Given the description of an element on the screen output the (x, y) to click on. 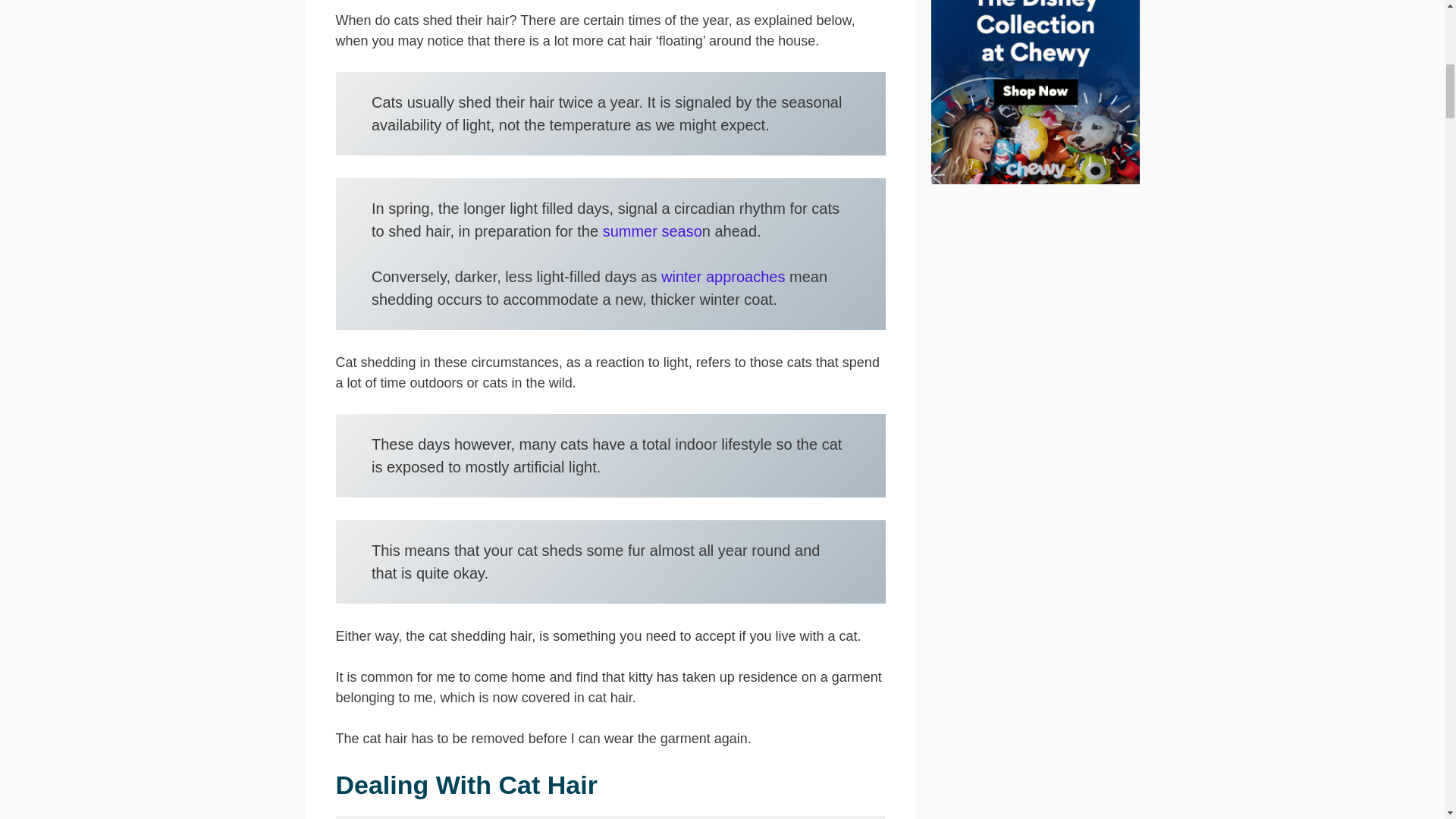
summer seaso (651, 230)
winter approaches (722, 276)
Scroll back to top (1406, 720)
